Given the description of an element on the screen output the (x, y) to click on. 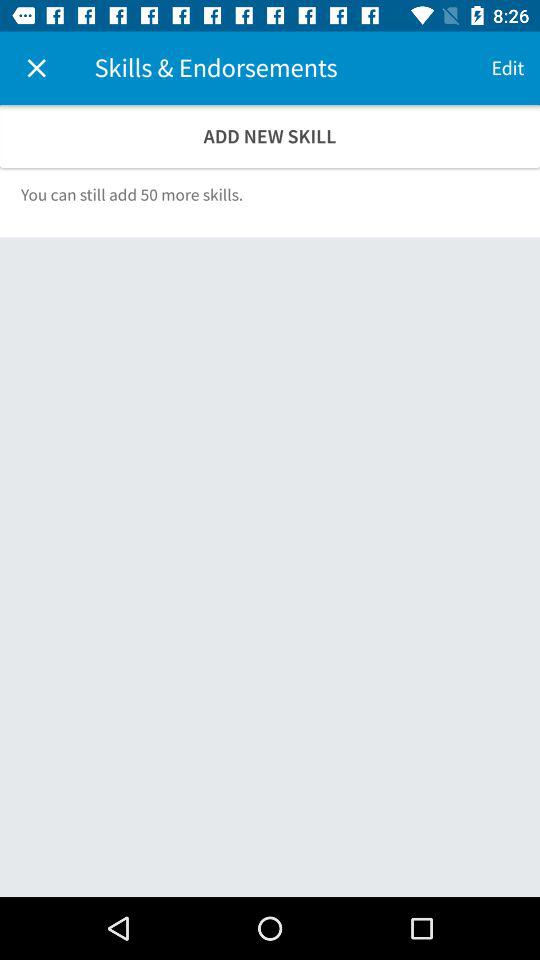
choose icon above the you can still icon (270, 136)
